Given the description of an element on the screen output the (x, y) to click on. 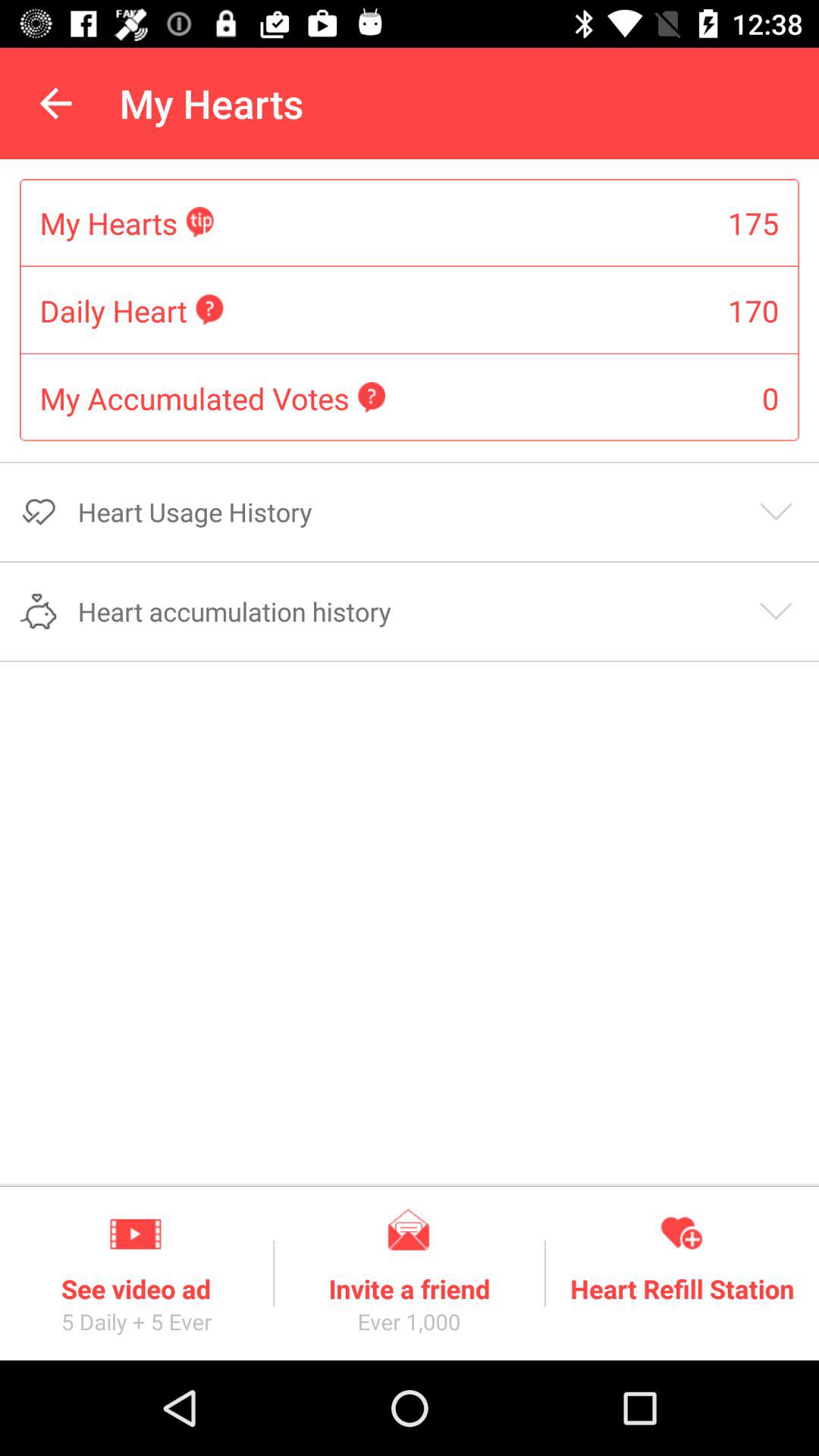
tap icon above the my hearts item (55, 103)
